Given the description of an element on the screen output the (x, y) to click on. 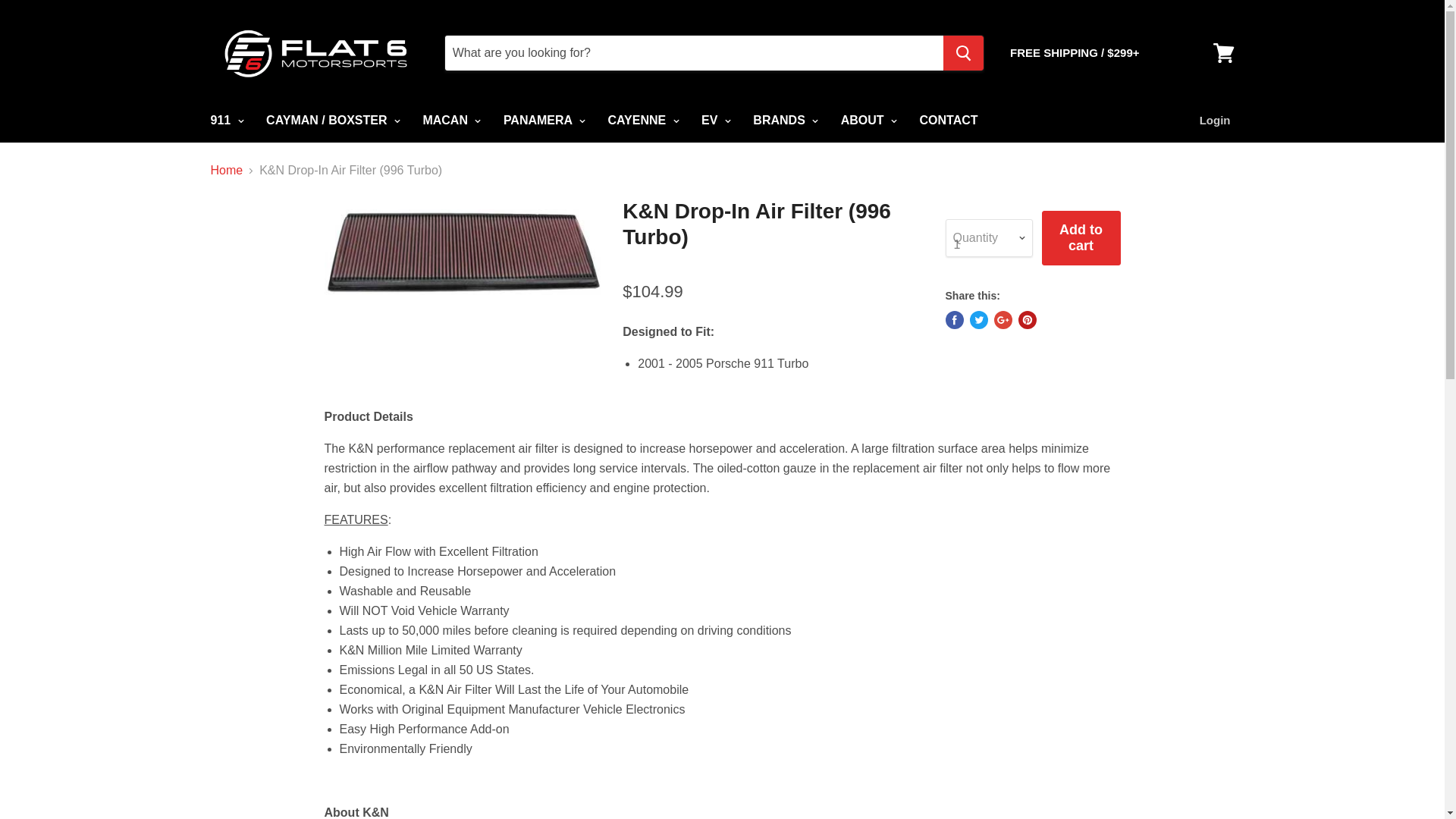
911 (224, 120)
View cart (1223, 53)
